Given the description of an element on the screen output the (x, y) to click on. 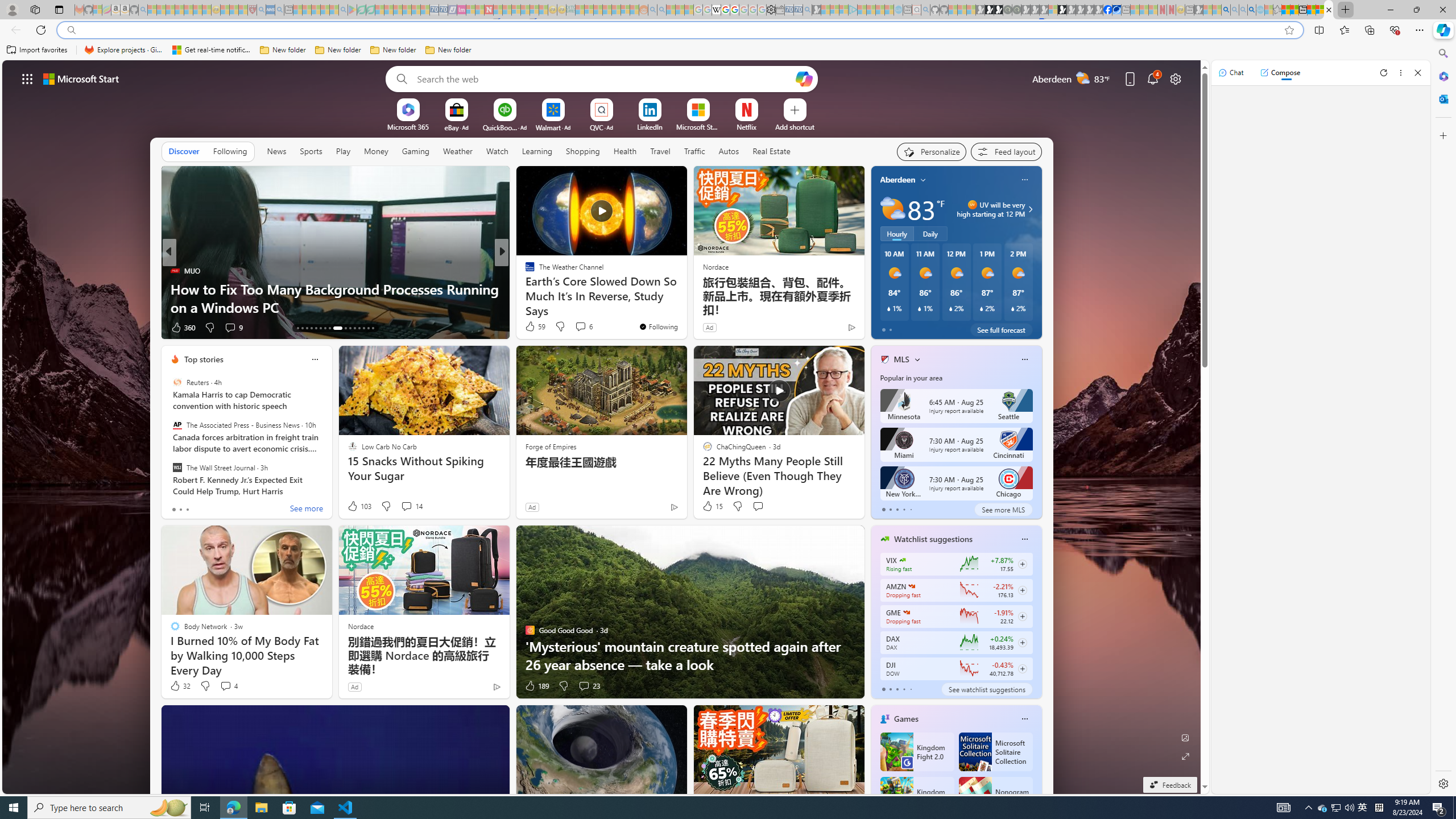
Shopping (583, 151)
The Wall Street Journal (176, 466)
GAMESTOP CORP. (906, 612)
15 Like (712, 505)
103 Like (358, 505)
Nonogram FRVR (995, 796)
View comments 8 Comment (576, 327)
LinkedIn (649, 126)
